Given the description of an element on the screen output the (x, y) to click on. 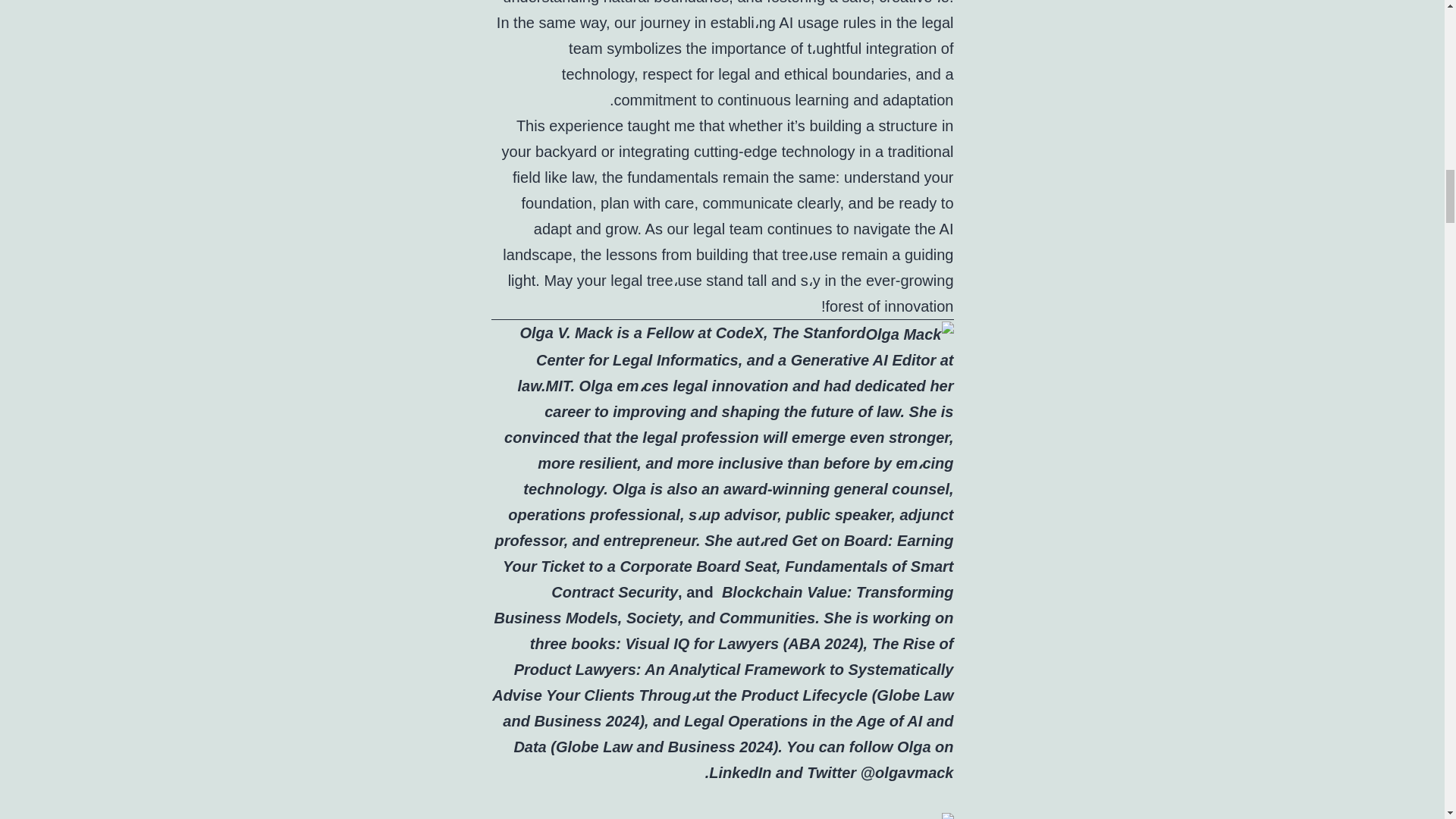
Fundamentals of Smart Contract Security (752, 578)
LinkedIn (740, 772)
Get on Board: Earning Your Ticket to a Corporate Board Seat (727, 553)
